Given the description of an element on the screen output the (x, y) to click on. 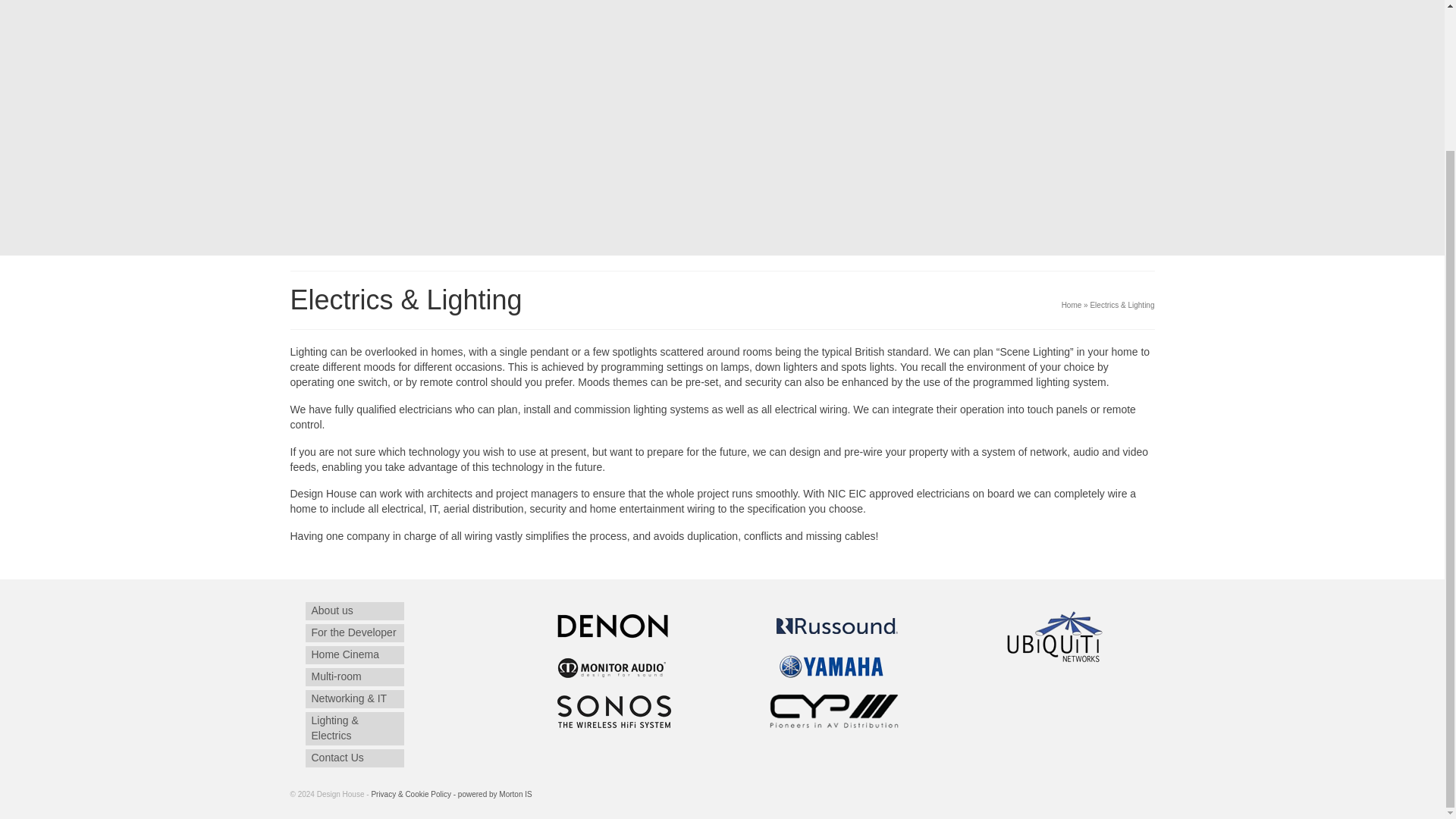
Multi-room (353, 677)
morton internet solutions (515, 794)
Home Cinema (353, 655)
For the Developer (353, 633)
- powered by (475, 794)
About us (353, 610)
Contact Us (353, 758)
Home (1071, 305)
Morton IS (515, 794)
